Given the description of an element on the screen output the (x, y) to click on. 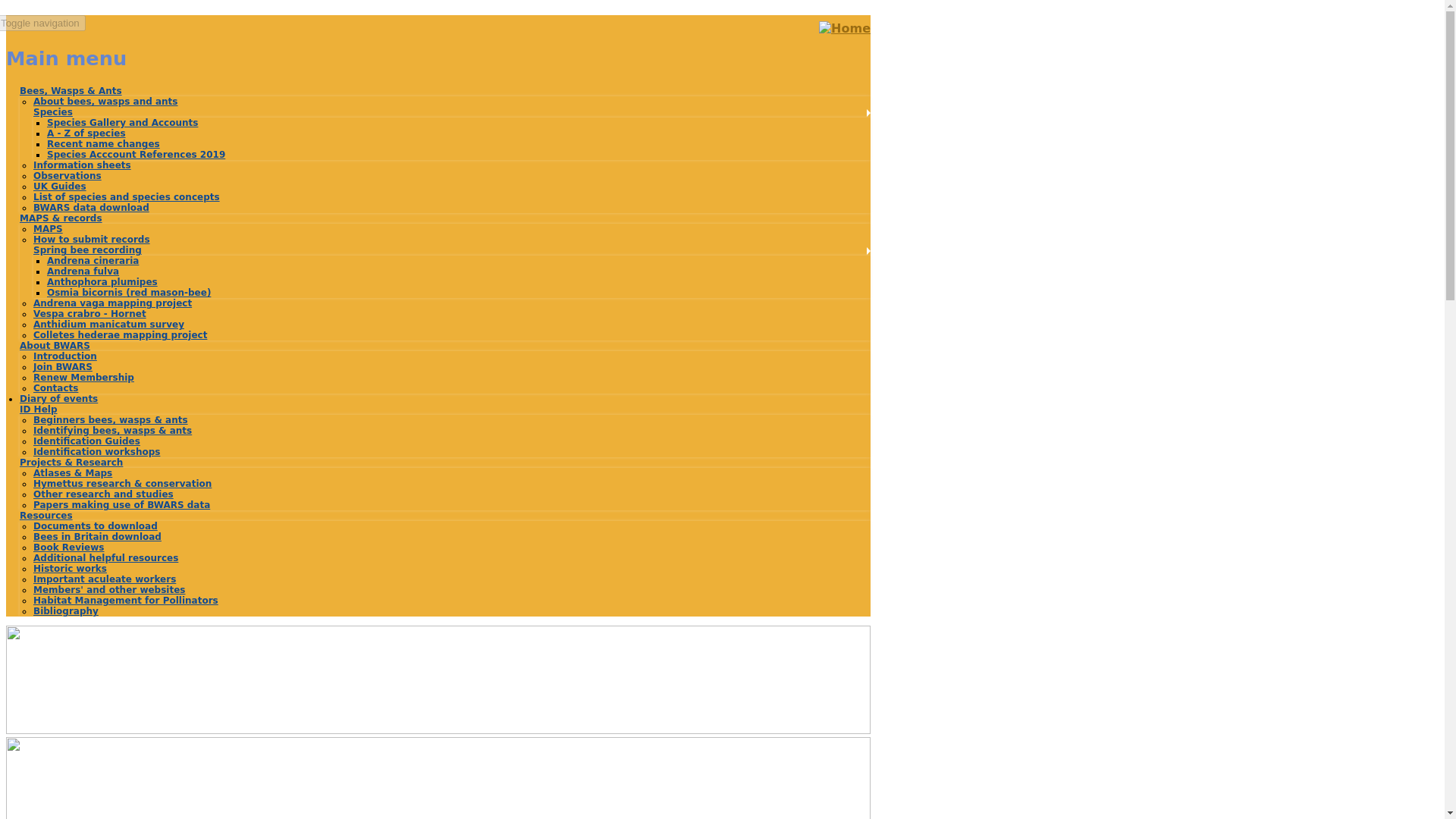
Colletes hederae mapping project (119, 335)
Renew Membership (83, 377)
Species Gallery and Accounts (122, 122)
Introduction (65, 356)
Andrena vaga mapping project (112, 303)
Home (844, 28)
Notes about British aculeates (67, 175)
Introduction to British bees, wasps and ants (105, 101)
A simple alphabetical list of all species on the BWARS site. (85, 132)
Submit a sighting of Andrena vaga (112, 303)
Spring bee recording (87, 249)
Join BWARS (63, 366)
BWARS data download (91, 207)
Recent name changes (103, 143)
